Given the description of an element on the screen output the (x, y) to click on. 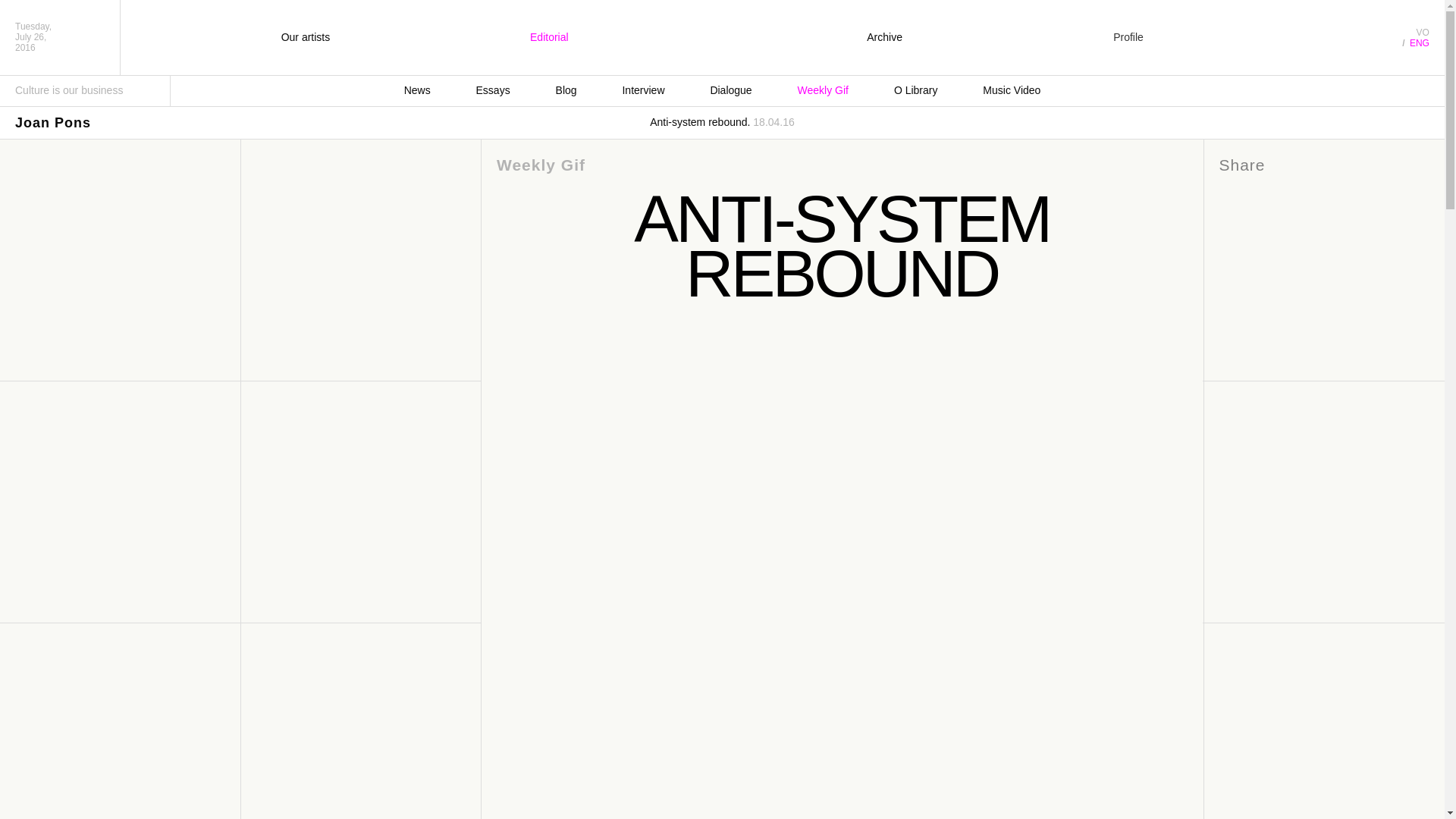
VO (1422, 32)
Archive (884, 37)
ENG (1419, 42)
Editorial (549, 37)
O Creative Studio (716, 41)
Our artists (305, 37)
